Given the description of an element on the screen output the (x, y) to click on. 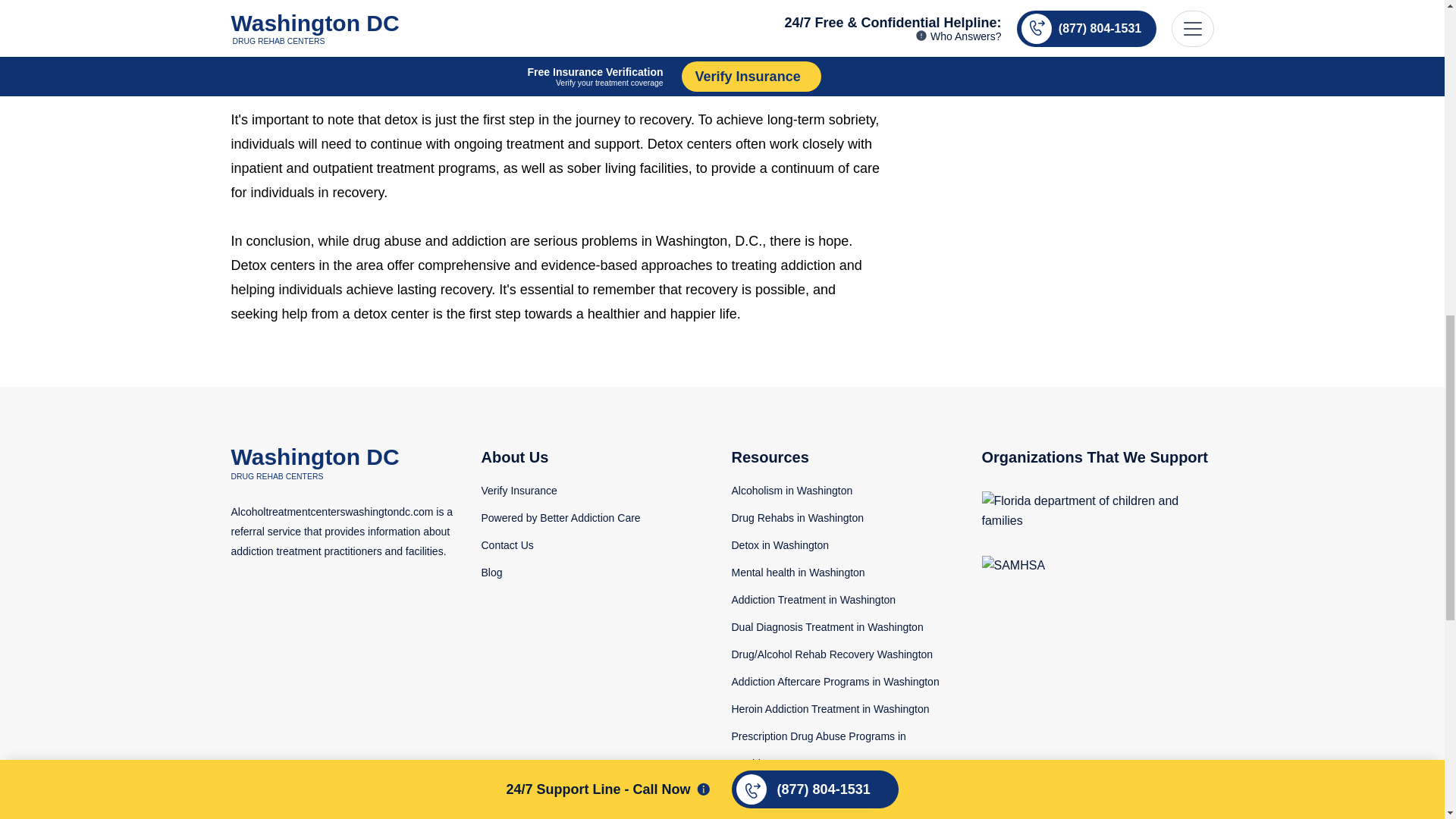
Dual Diagnosis Treatment in Washington (826, 603)
Alcoholism in Washington (790, 466)
Powered by Better Addiction Care (560, 493)
Addiction Treatment in Washington (812, 575)
Mental health in Washington (797, 548)
Contact Us (506, 521)
Washington DC Blog Resources (491, 548)
Prescription Drug Abuse Programs in Washington (817, 725)
Powered by Better Addiction Care (560, 493)
Verify Your Insurance (518, 466)
Heroin Addiction Treatment in Washington (829, 684)
Drug Rehabs in Washington (796, 493)
Contact Us (506, 521)
About Us (596, 433)
Addiction Aftercare Programs in Washington (834, 657)
